Given the description of an element on the screen output the (x, y) to click on. 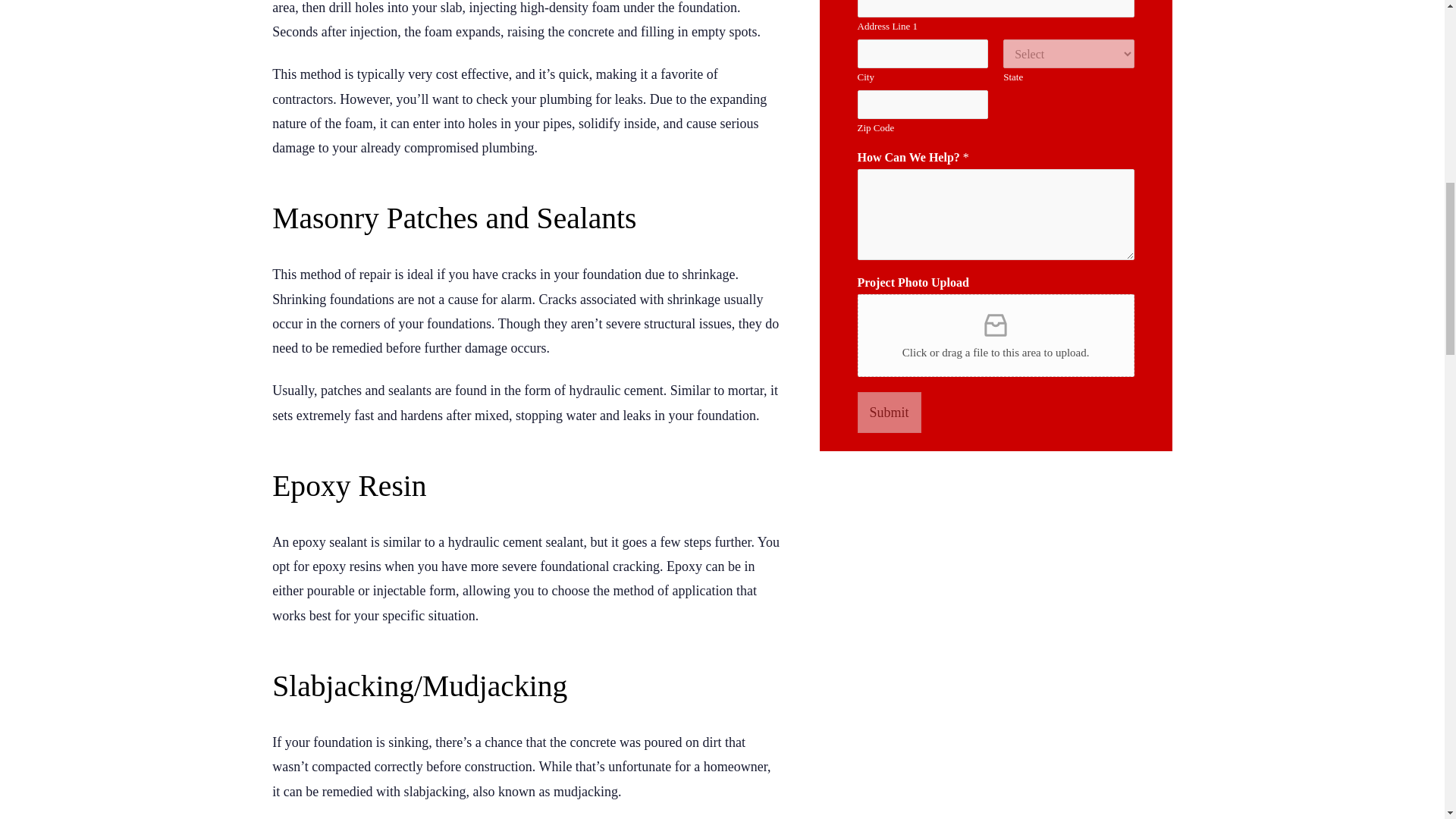
Submit (889, 412)
